Given the description of an element on the screen output the (x, y) to click on. 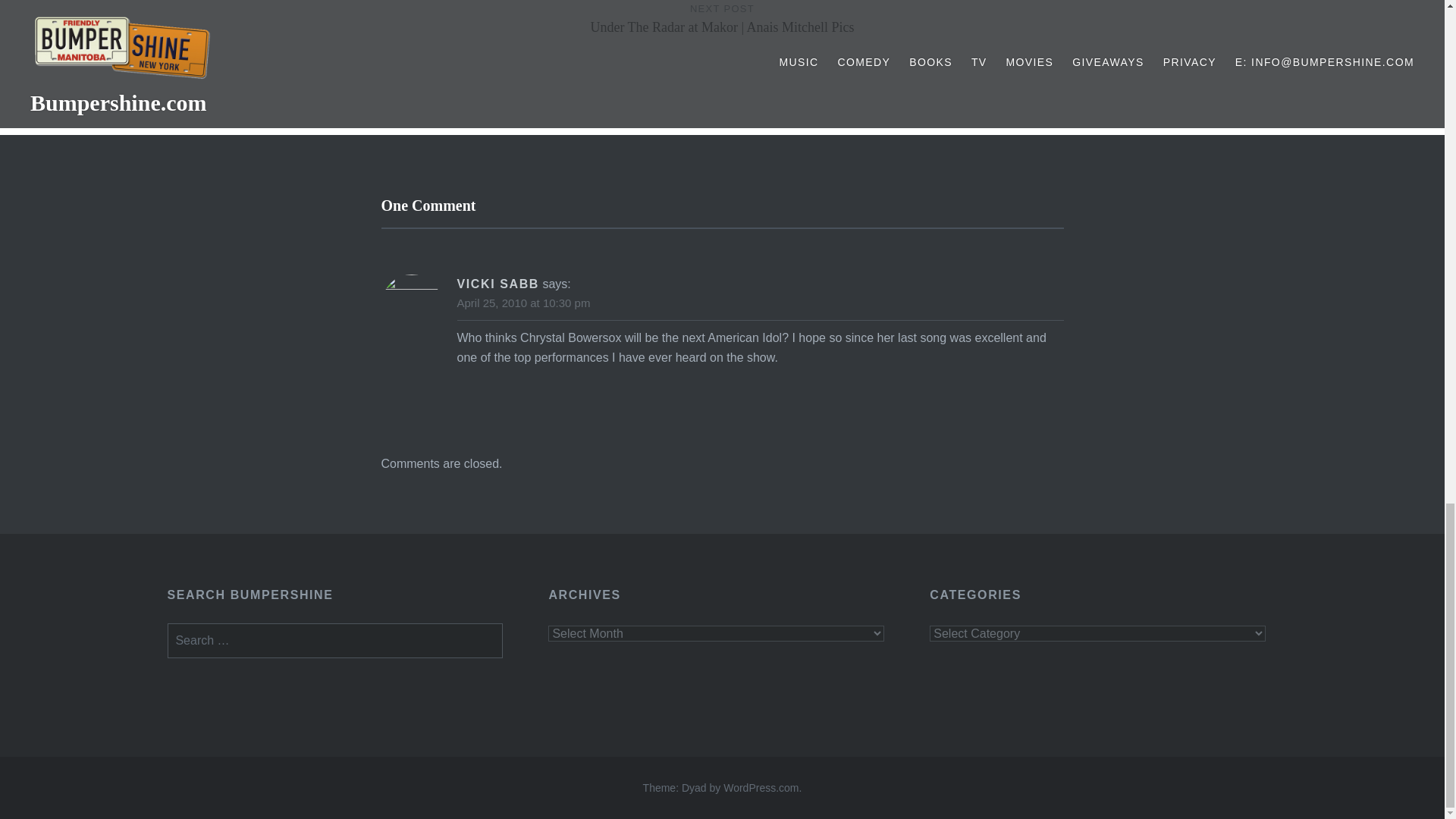
VICKI SABB (497, 283)
WordPress.com (760, 787)
April 25, 2010 at 10:30 pm (523, 302)
